Given the description of an element on the screen output the (x, y) to click on. 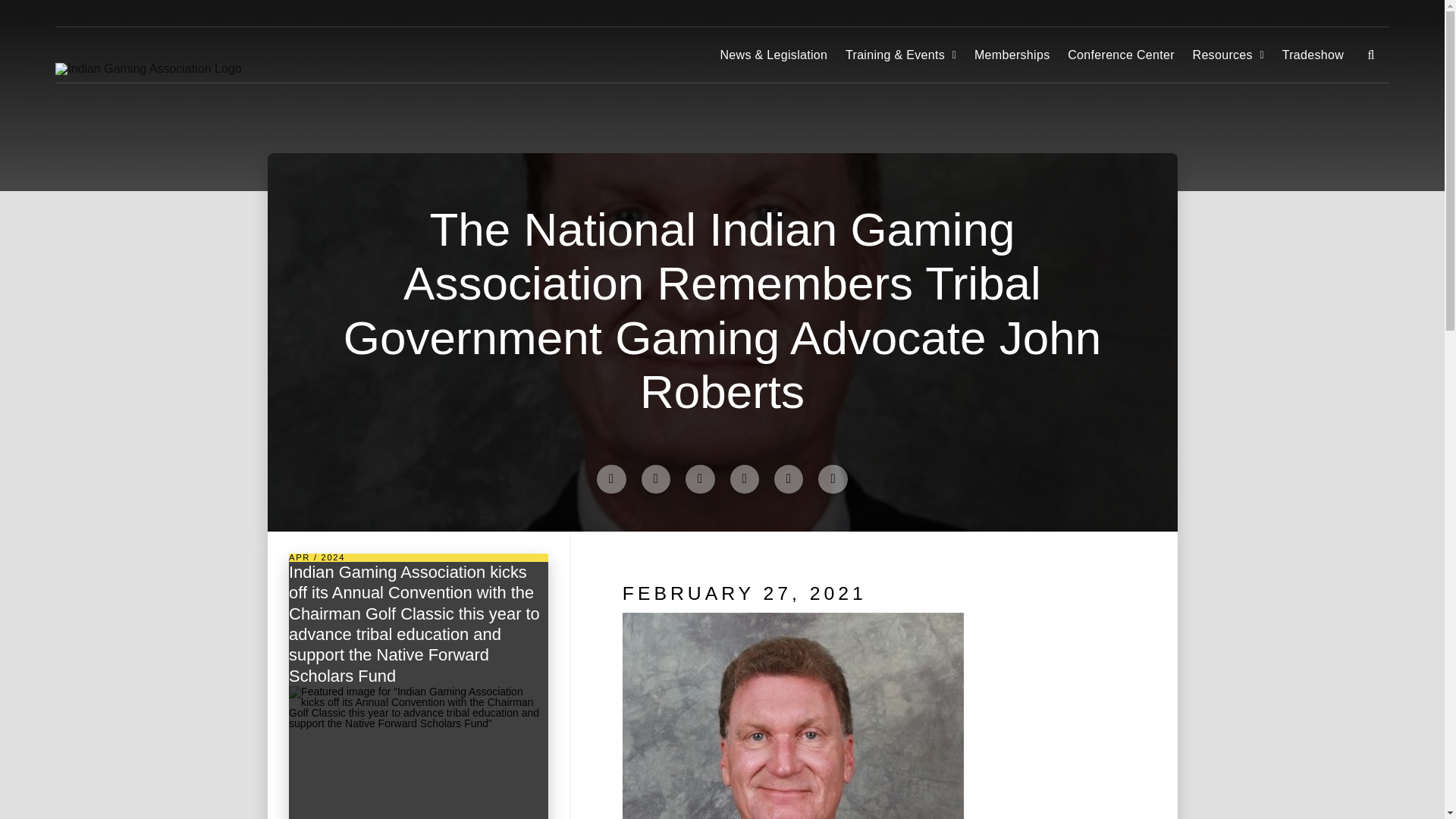
Memberships (1011, 54)
Resources (1227, 54)
Tradeshow (1312, 54)
Conference Center (1120, 54)
